Given the description of an element on the screen output the (x, y) to click on. 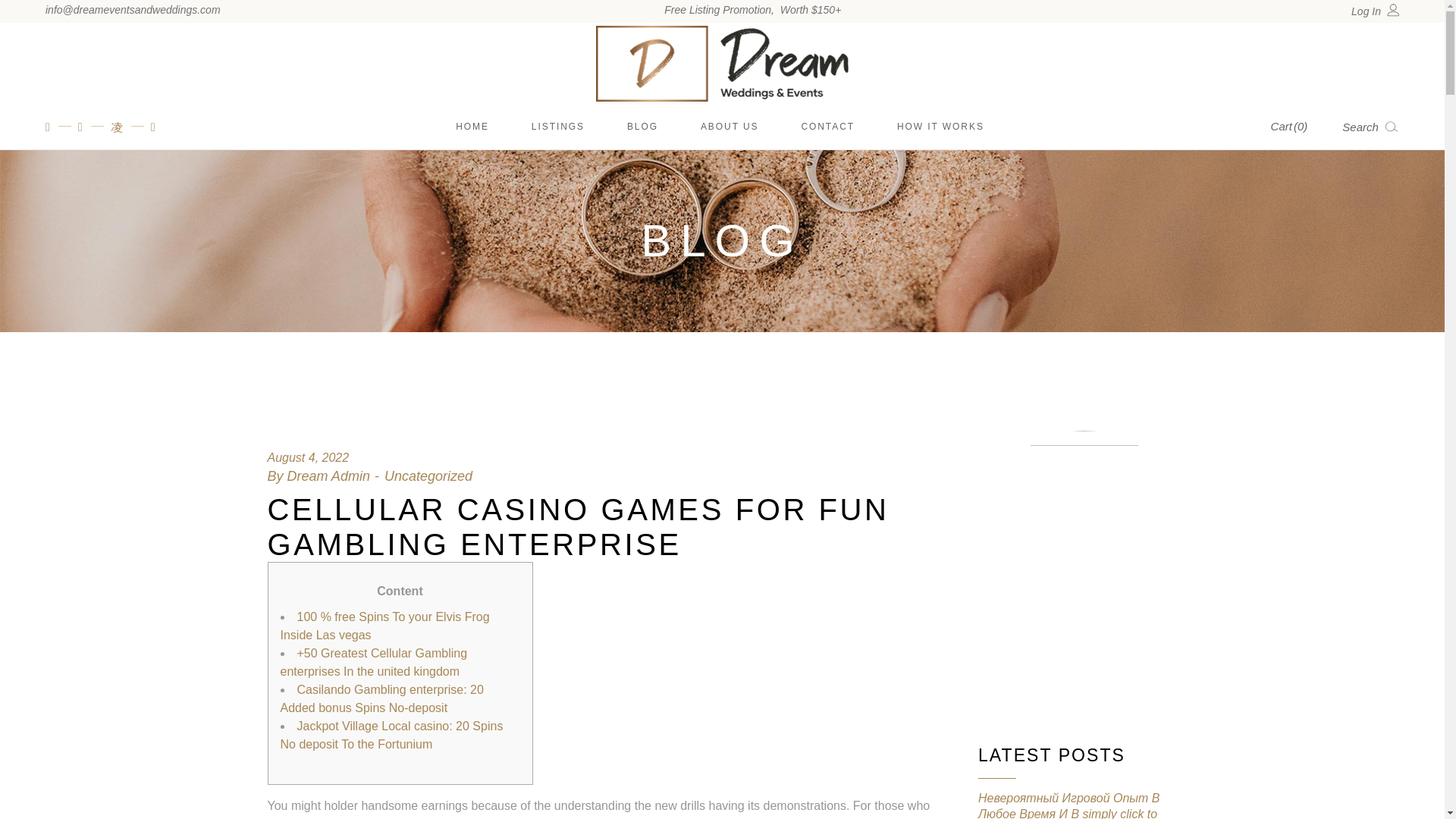
CONTACT (829, 126)
August 4, 2022 (307, 457)
ABOUT US (731, 126)
LISTINGS (560, 126)
Uncategorized (427, 476)
Search (1370, 126)
HOW IT WORKS (942, 126)
Log In (1375, 10)
Dream Admin (327, 476)
